Given the description of an element on the screen output the (x, y) to click on. 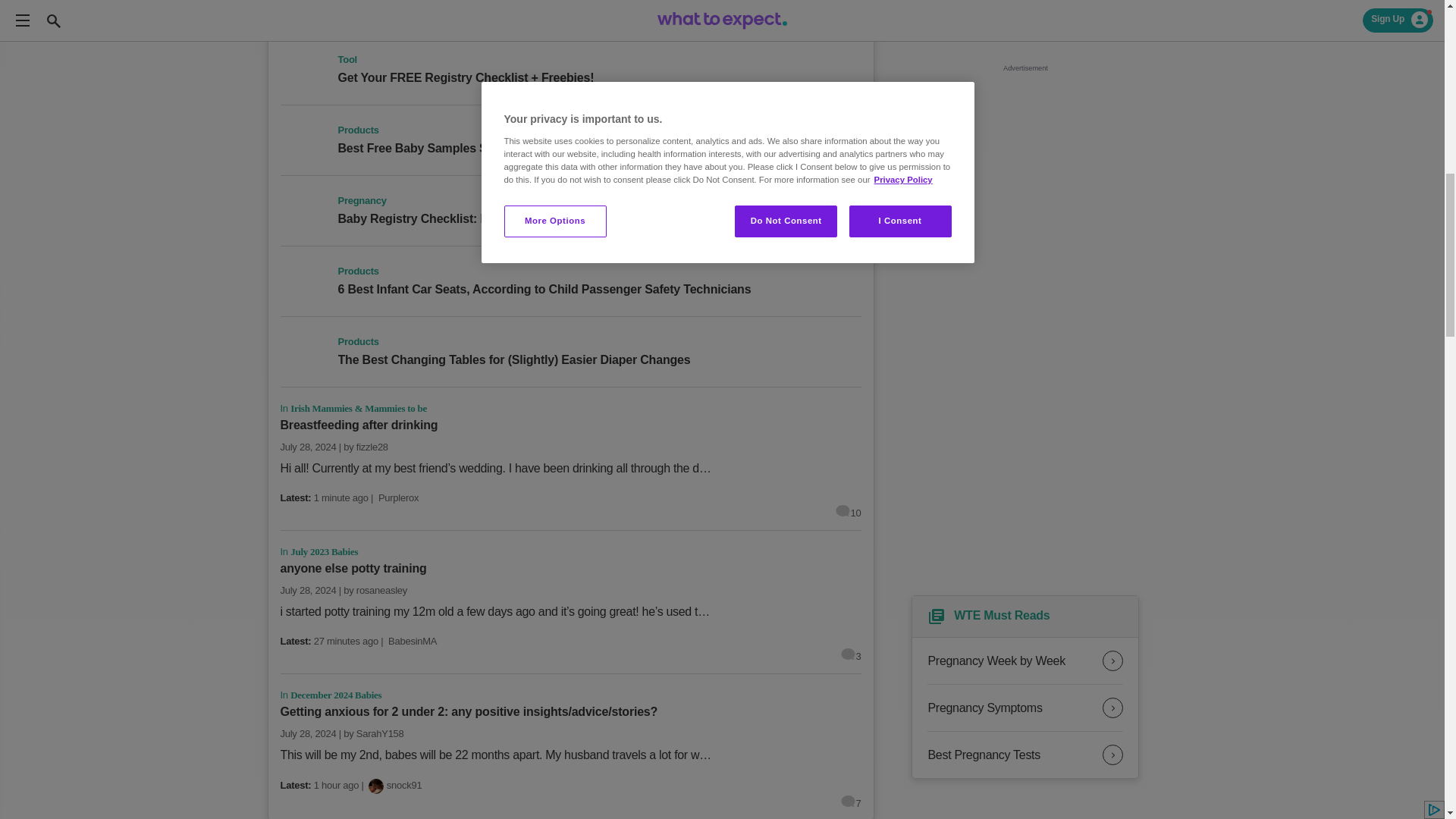
Pregnancy Week by Week (1024, 661)
Pregnancy Symptoms (1024, 708)
Best Pregnancy Tests (1024, 755)
